Given the description of an element on the screen output the (x, y) to click on. 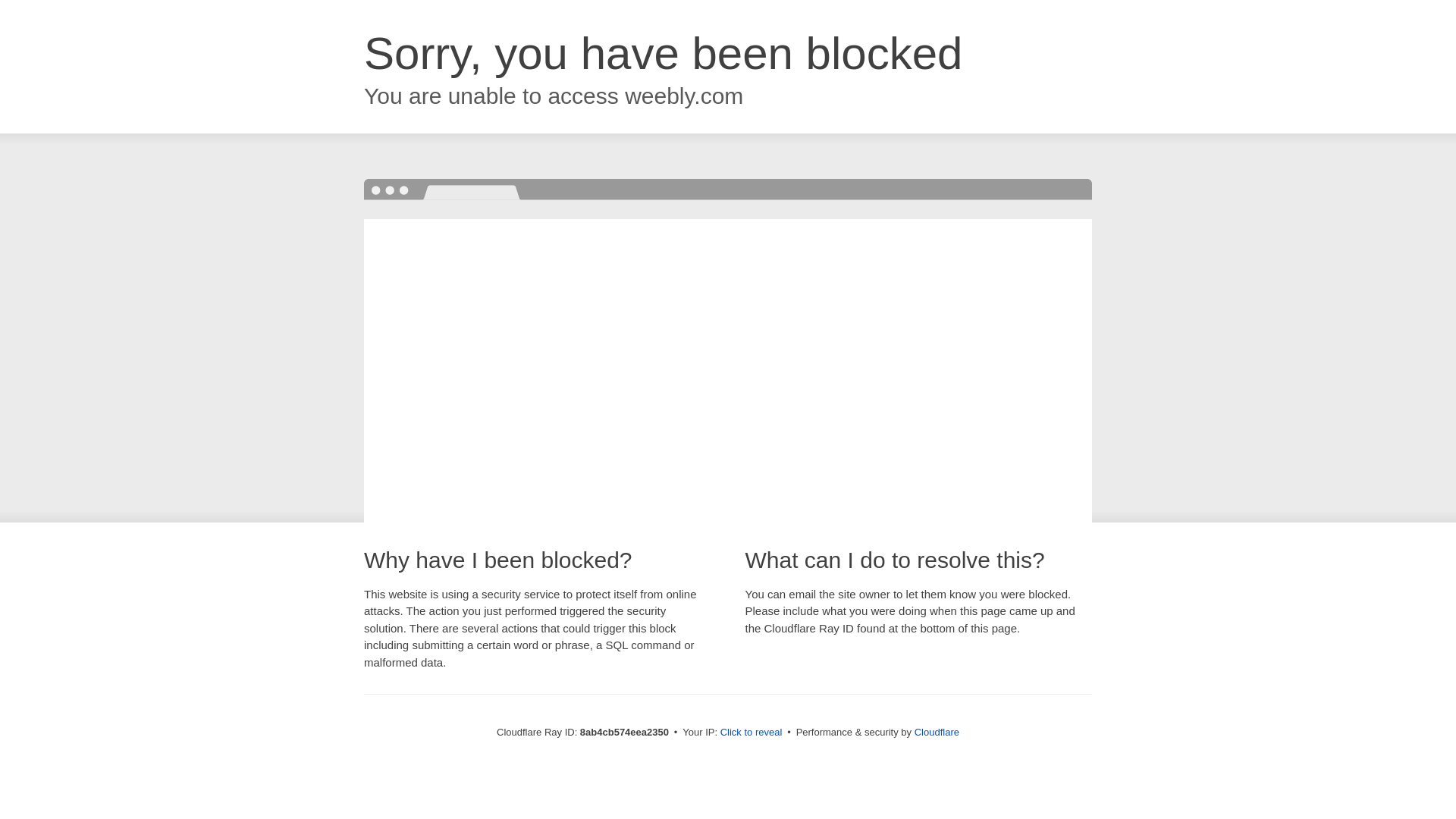
Cloudflare (936, 731)
Click to reveal (751, 732)
